Given the description of an element on the screen output the (x, y) to click on. 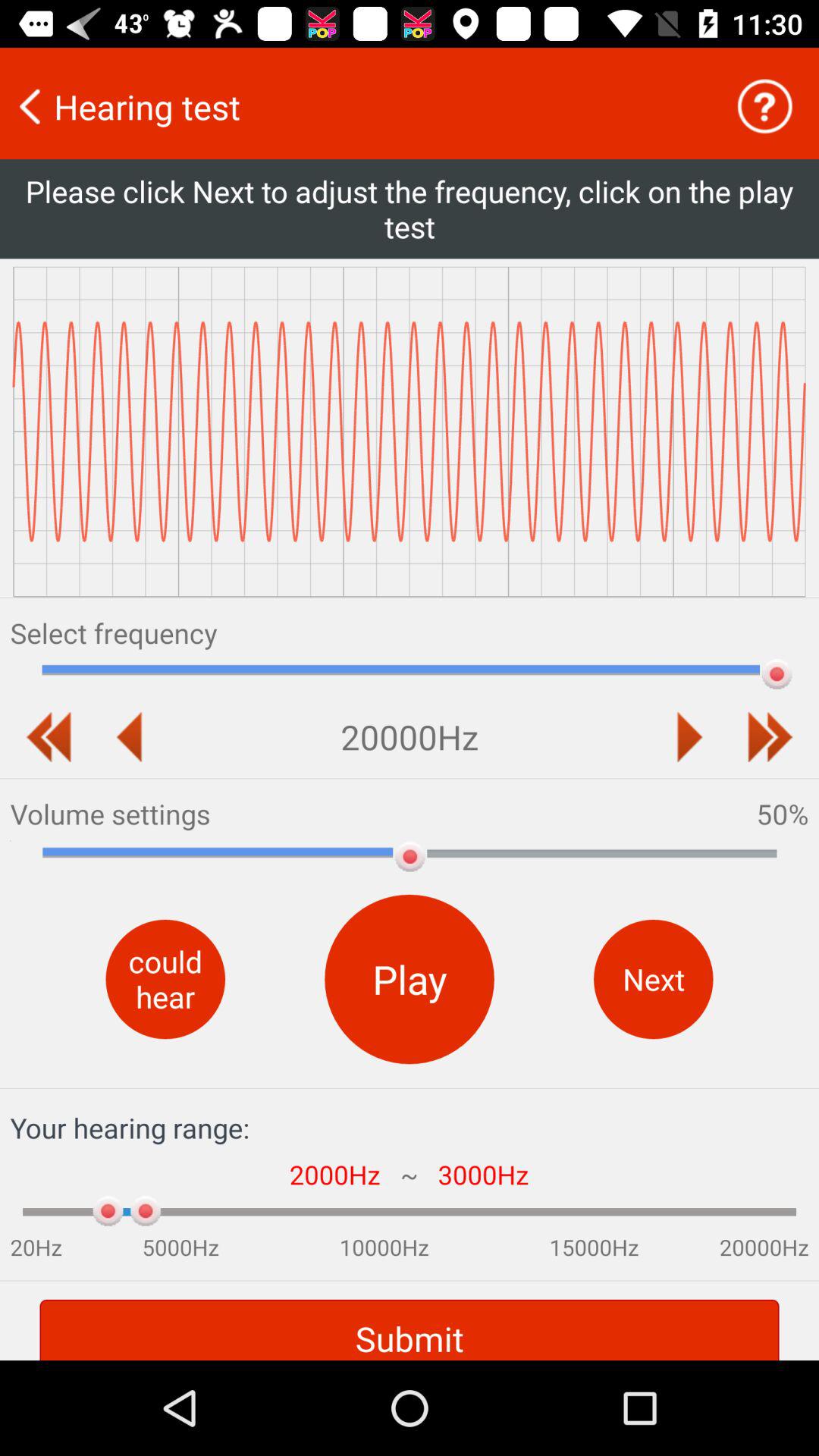
to rewind (48, 737)
